Given the description of an element on the screen output the (x, y) to click on. 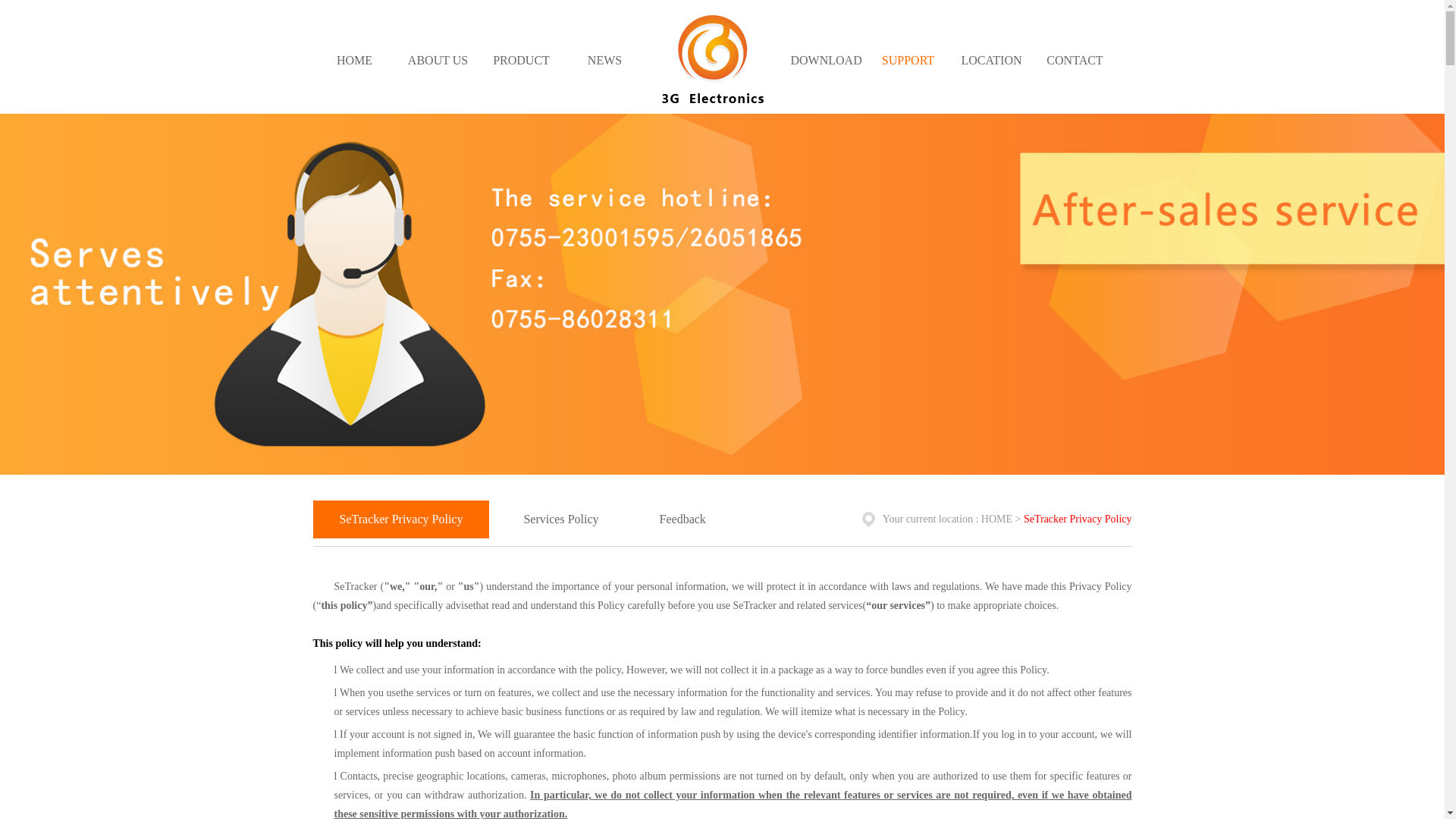
LOCATION Element type: text (991, 65)
Services Policy Element type: text (560, 518)
ABOUT US Element type: text (437, 65)
PRODUCT Element type: text (520, 65)
SeTracker Privacy Policy Element type: text (401, 518)
NEWS Element type: text (604, 65)
SUPPORT Element type: text (907, 65)
DOWNLOAD Element type: text (825, 65)
HOME Element type: text (996, 518)
HOME Element type: text (354, 65)
Feedback Element type: text (682, 518)
CONTACT Element type: text (1074, 65)
SeTracker Privacy Policy Element type: text (1077, 518)
